Given the description of an element on the screen output the (x, y) to click on. 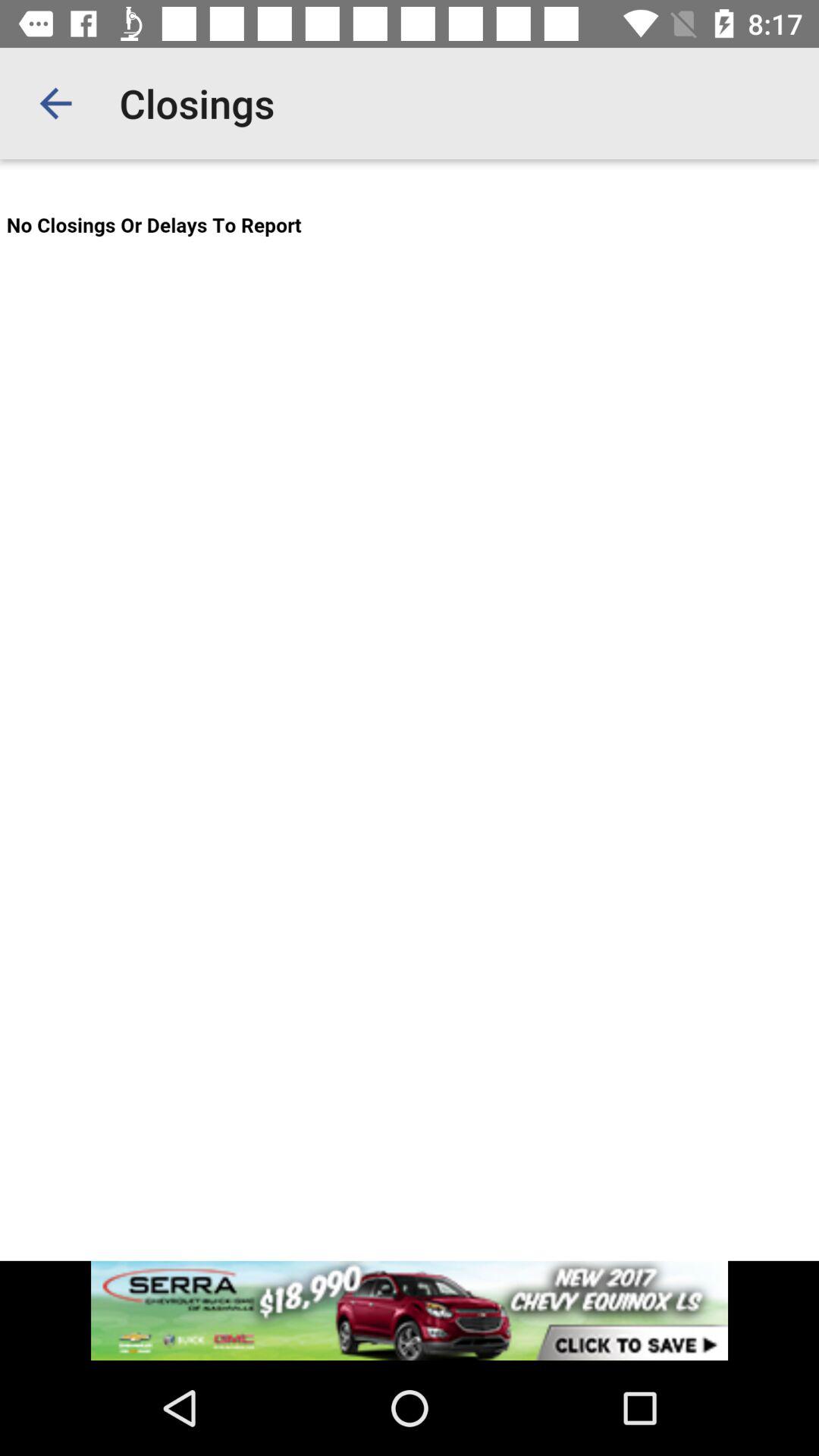
advertisement (409, 1310)
